Given the description of an element on the screen output the (x, y) to click on. 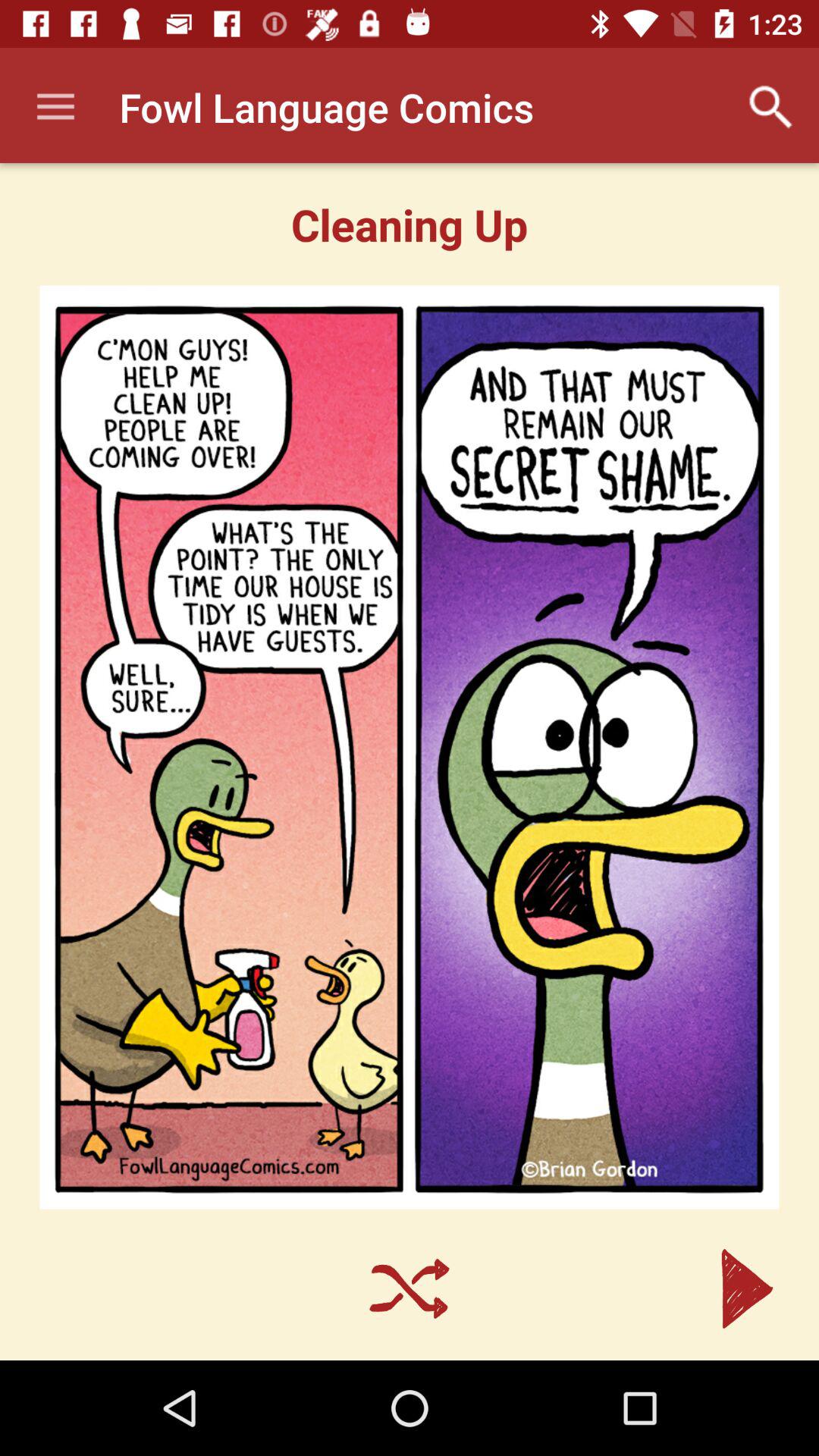
press icon at the center (409, 747)
